Given the description of an element on the screen output the (x, y) to click on. 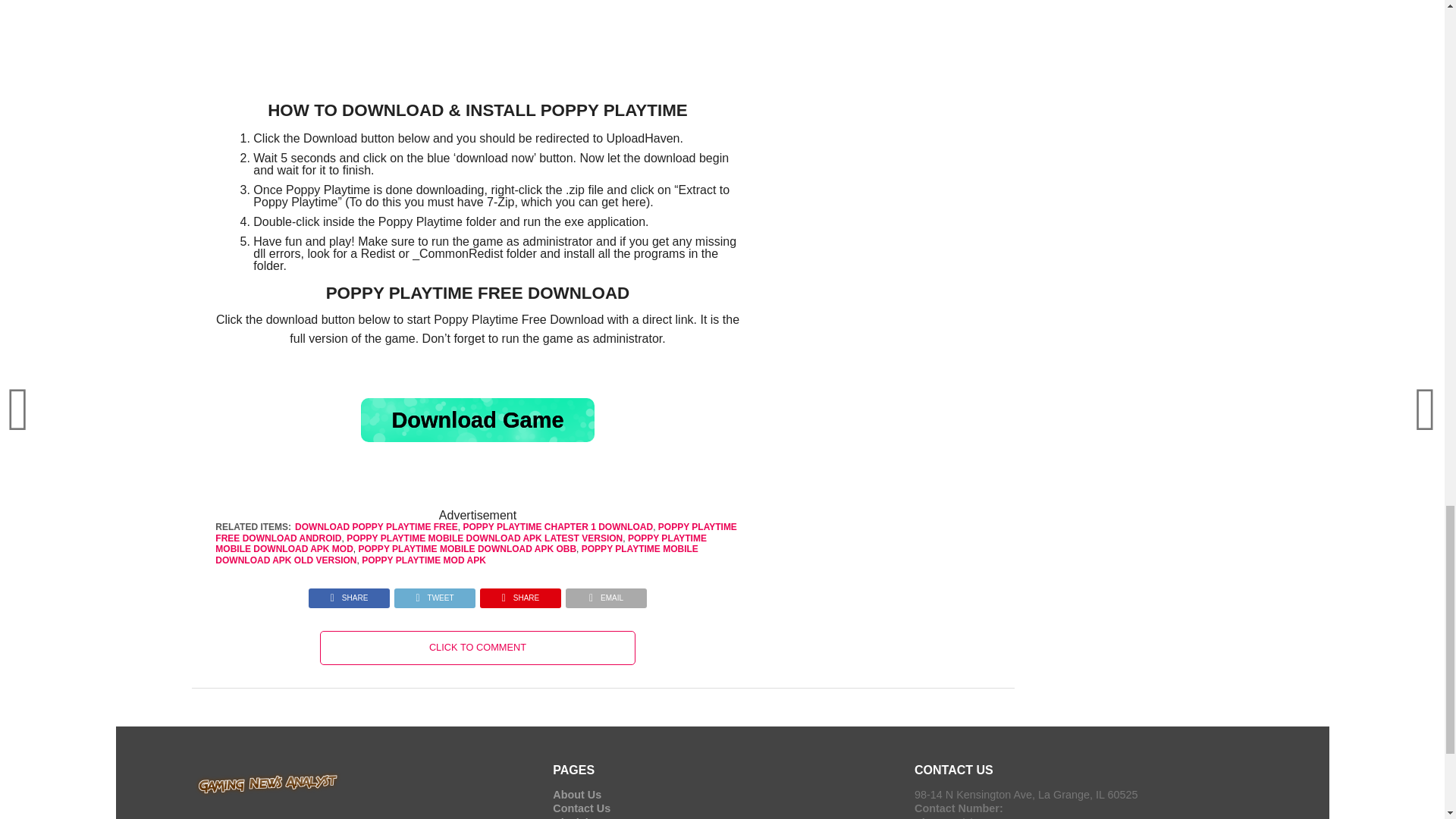
POPPY PLAYTIME MOBILE DOWNLOAD APK OLD VERSION (456, 554)
POPPY PLAYTIME FREE DOWNLOAD ANDROID (475, 531)
POPPY PLAYTIME MOBILE DOWNLOAD APK LATEST VERSION (484, 538)
SHARE (349, 594)
EMAIL (605, 594)
SHARE (520, 594)
POPPY PLAYTIME MOD APK (423, 560)
POPPY PLAYTIME CHAPTER 1 DOWNLOAD (557, 526)
Pin This Post (520, 594)
Download Game (477, 420)
Tweet This Post (434, 594)
POPPY PLAYTIME MOBILE DOWNLOAD APK MOD (460, 543)
DOWNLOAD POPPY PLAYTIME FREE (376, 526)
Download Game (477, 420)
Share on Facebook (349, 594)
